Given the description of an element on the screen output the (x, y) to click on. 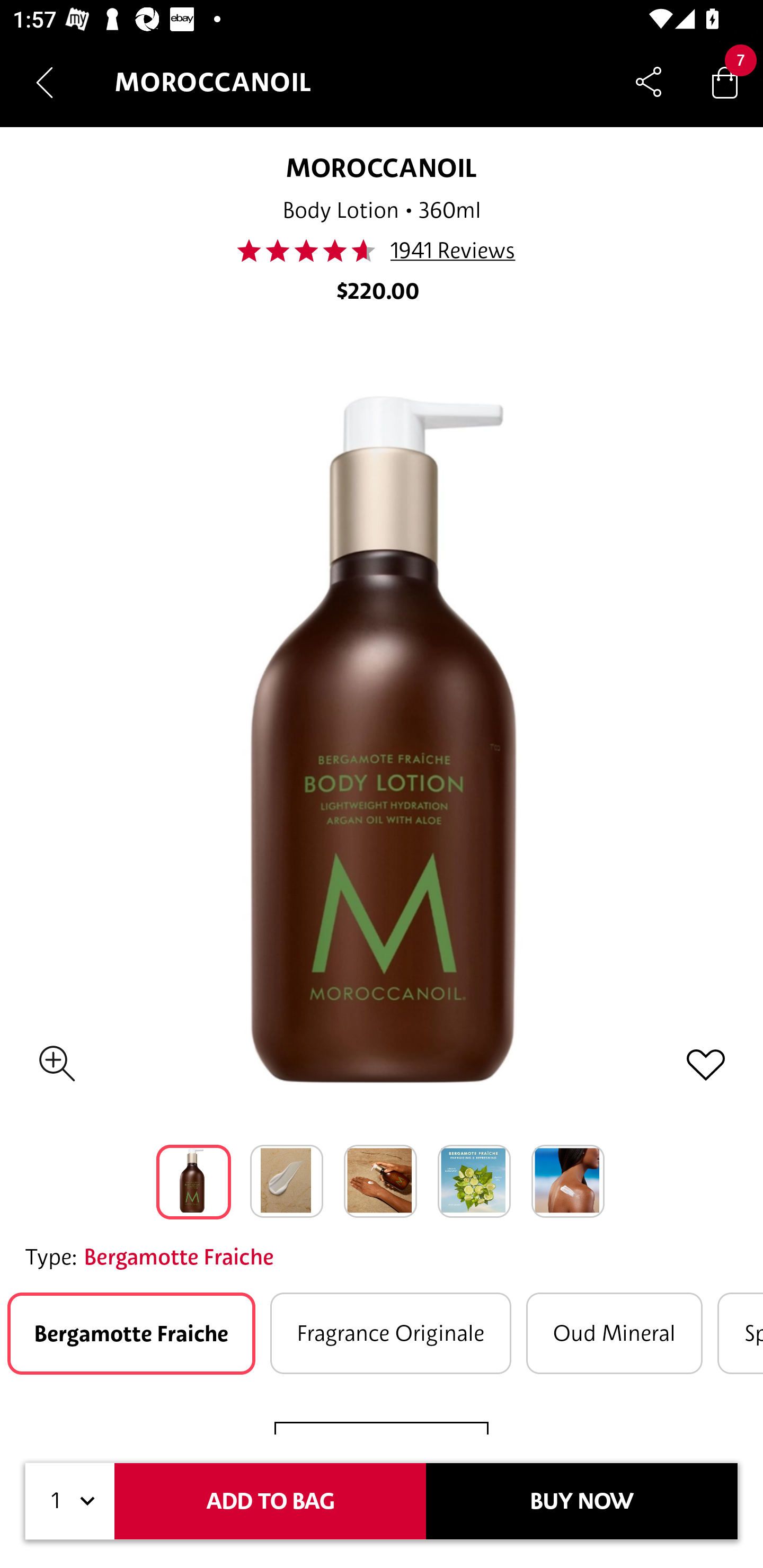
Navigate up (44, 82)
Share (648, 81)
Bag (724, 81)
MOROCCANOIL (381, 167)
46.0 1941 Reviews (381, 250)
Bergamotte Fraiche (131, 1333)
Fragrance Originale (390, 1332)
Oud Mineral (614, 1332)
1 (69, 1500)
ADD TO BAG (269, 1500)
BUY NOW (581, 1500)
